Given the description of an element on the screen output the (x, y) to click on. 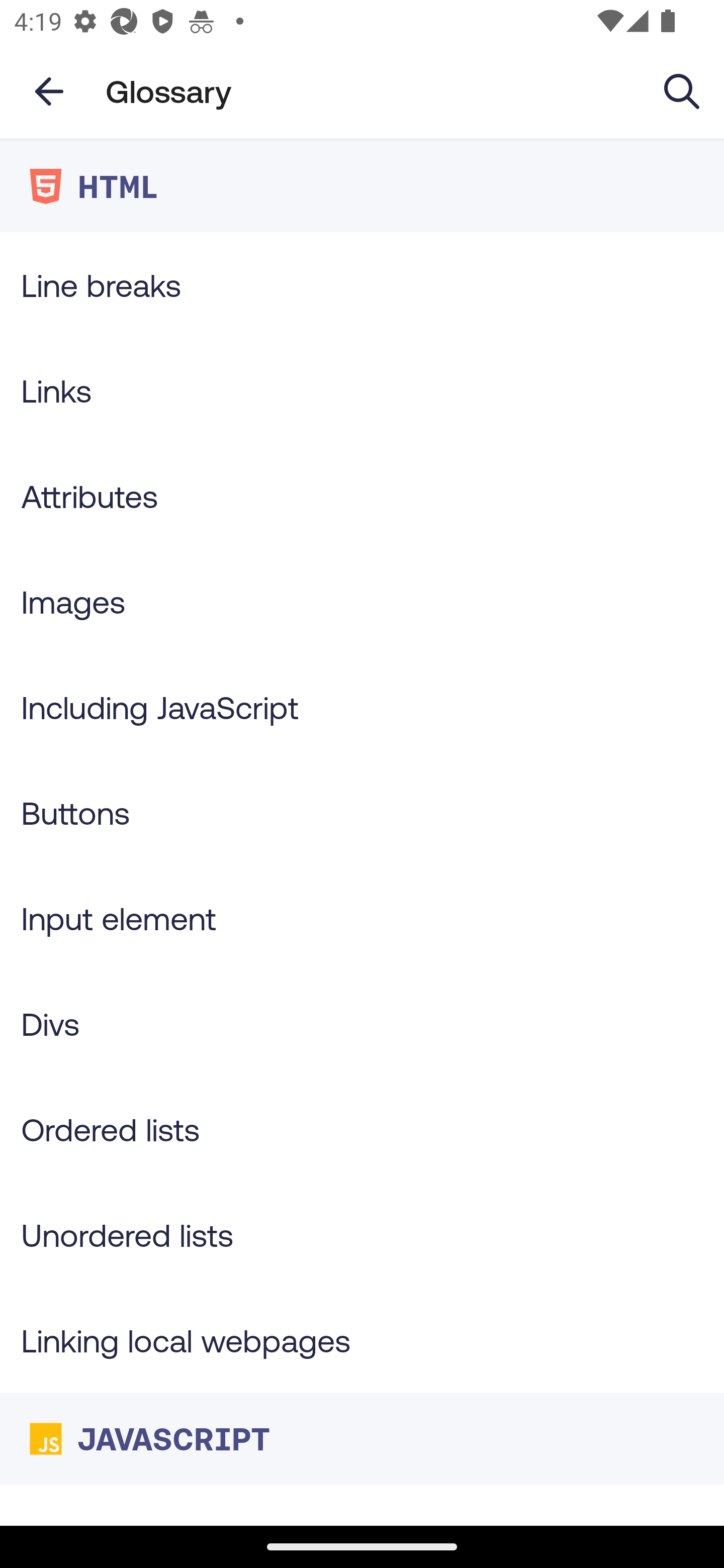
Navigate up (49, 91)
Search Glossary (681, 90)
HTML (362, 186)
Line breaks (362, 284)
Links (362, 390)
Attributes (362, 495)
Images (362, 600)
Including JavaScript (362, 706)
Buttons (362, 812)
Input element (362, 917)
Divs (362, 1023)
Ordered lists (362, 1129)
Unordered lists (362, 1234)
Linking local webpages (362, 1339)
JAVASCRIPT (362, 1438)
